Given the description of an element on the screen output the (x, y) to click on. 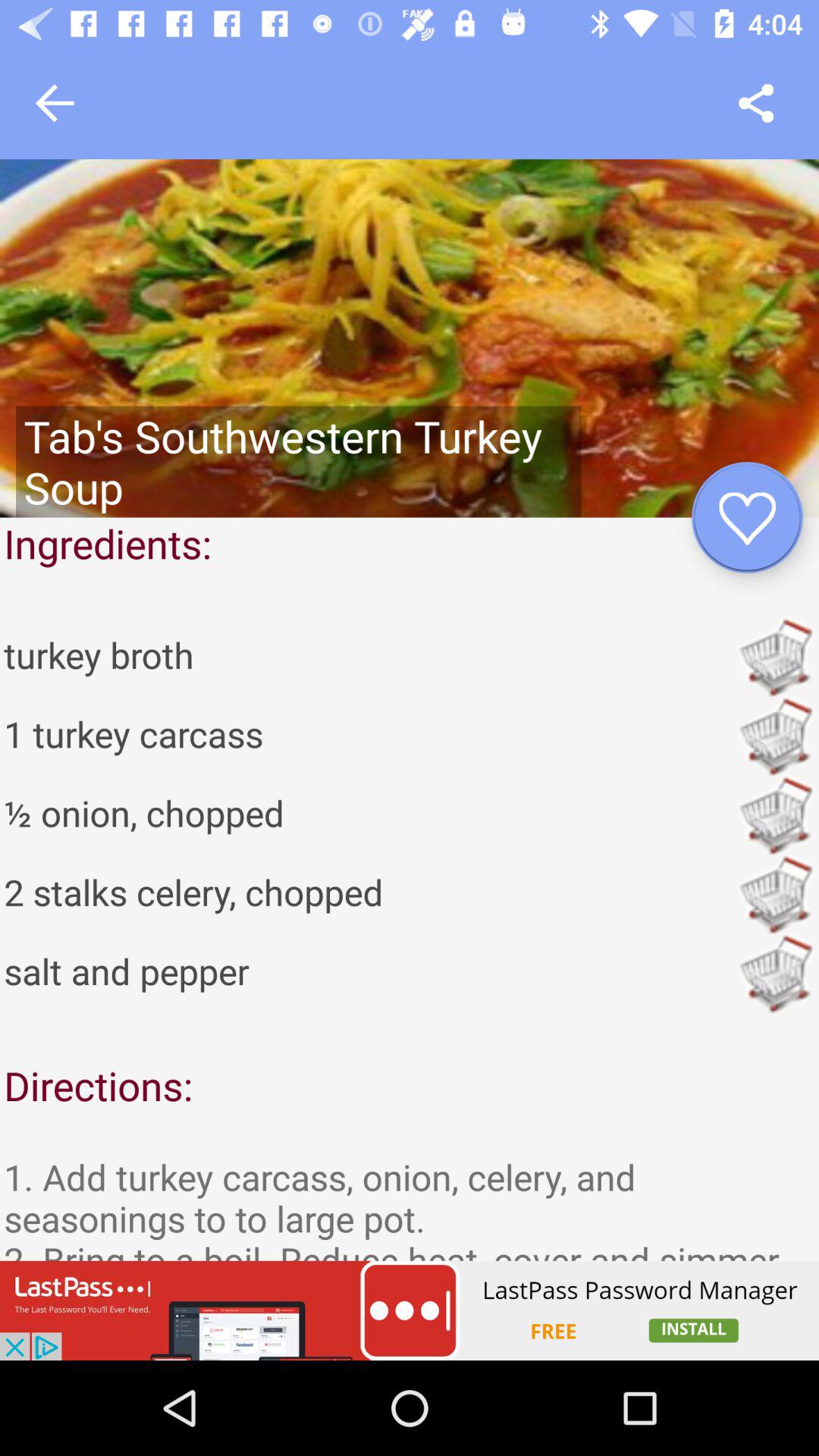
view the advertisement (409, 1310)
